Given the description of an element on the screen output the (x, y) to click on. 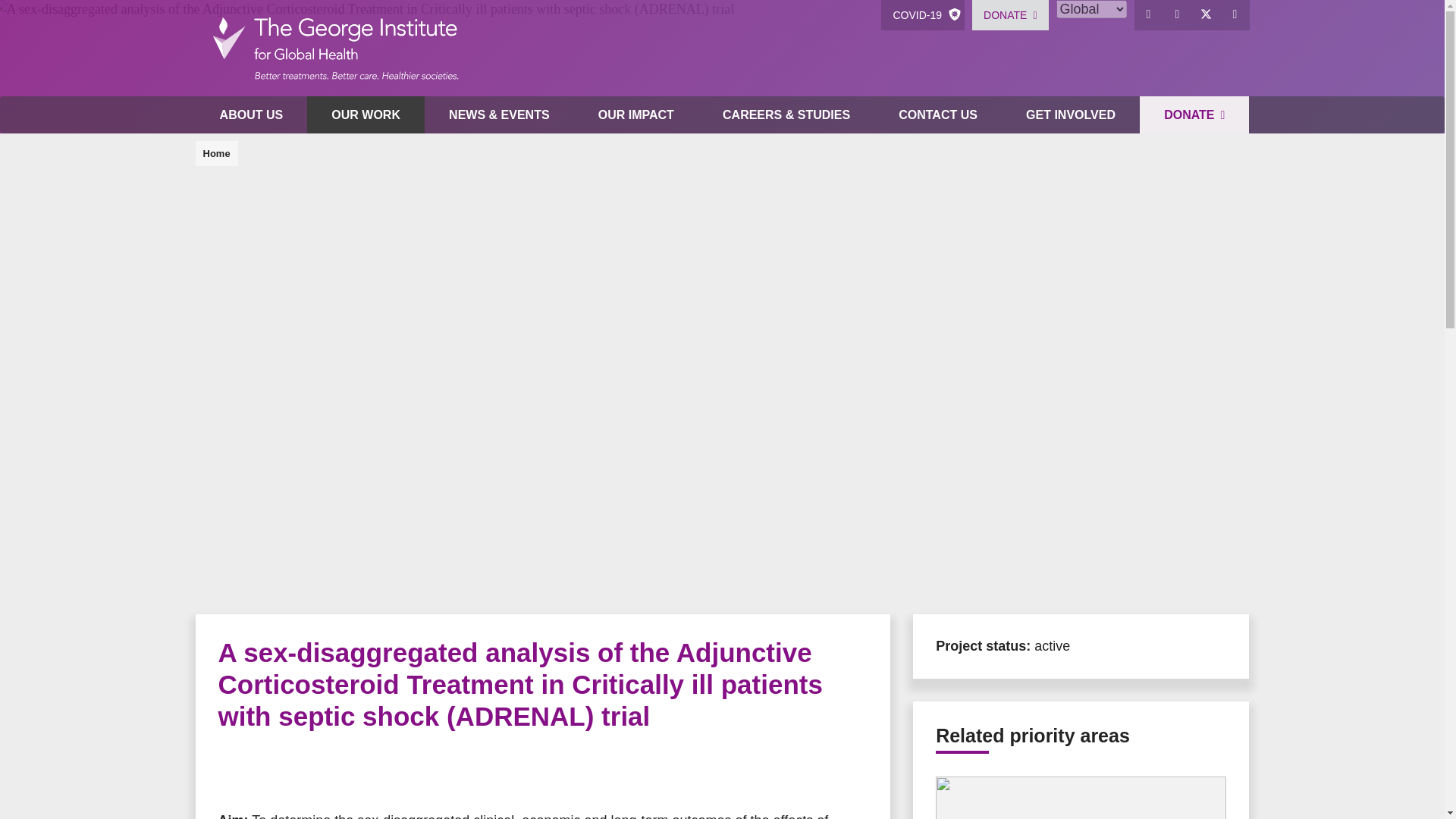
YouTube (1235, 15)
ABOUT US (251, 114)
DONATE (1010, 15)
Home (334, 48)
COVID-19 (921, 15)
Twitter (1206, 15)
Skip to main content (721, 1)
Share to X (263, 771)
LinkedIn (1177, 15)
Share to Facebook (233, 771)
Share to WhatsApp (293, 771)
OUR WORK (366, 114)
Facebook (1148, 15)
Share to Linkedin (324, 771)
